Given the description of an element on the screen output the (x, y) to click on. 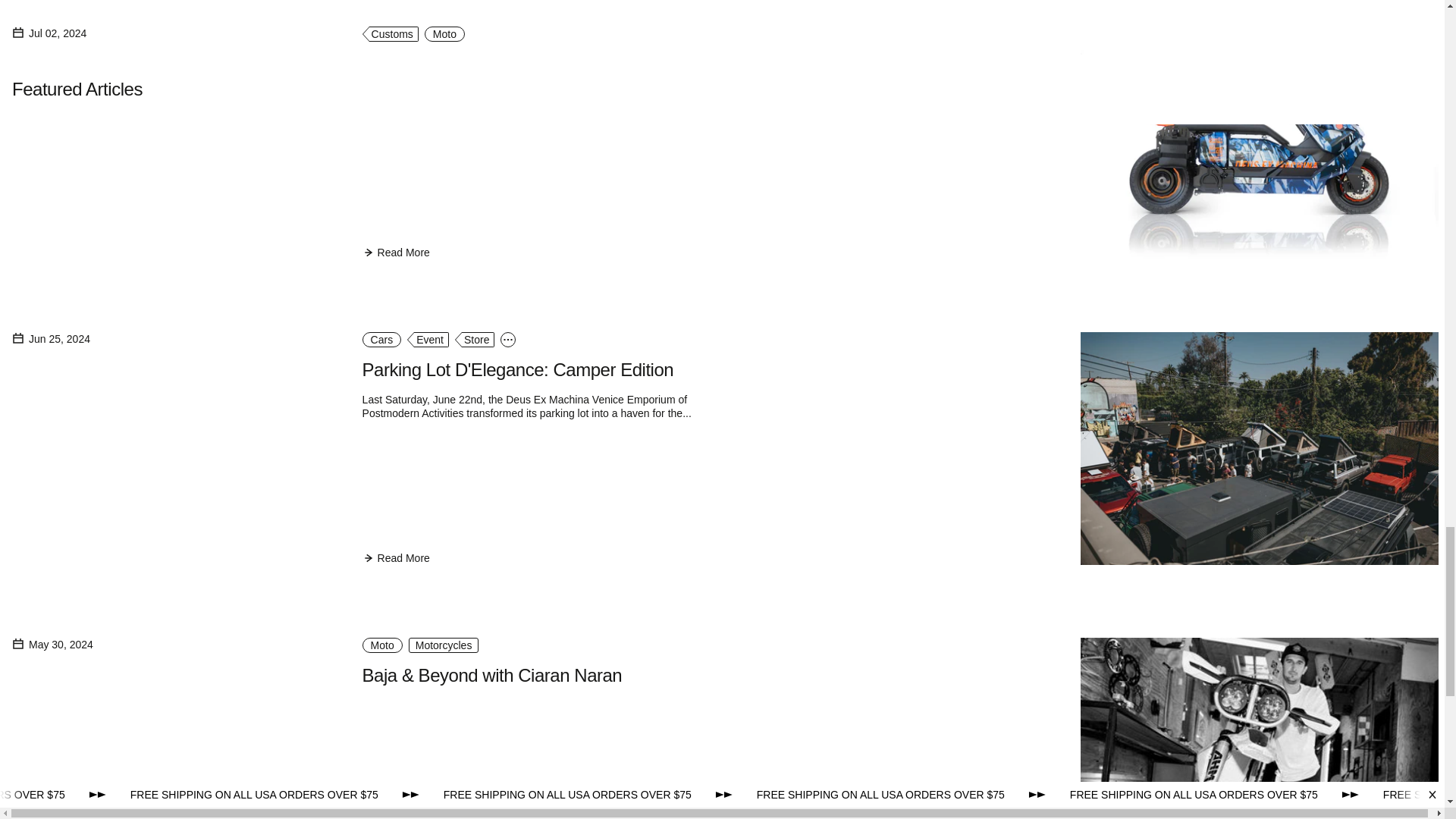
Parking Lot D'Elegance: Camper Edition (518, 369)
BMW DE04 (408, 64)
